Given the description of an element on the screen output the (x, y) to click on. 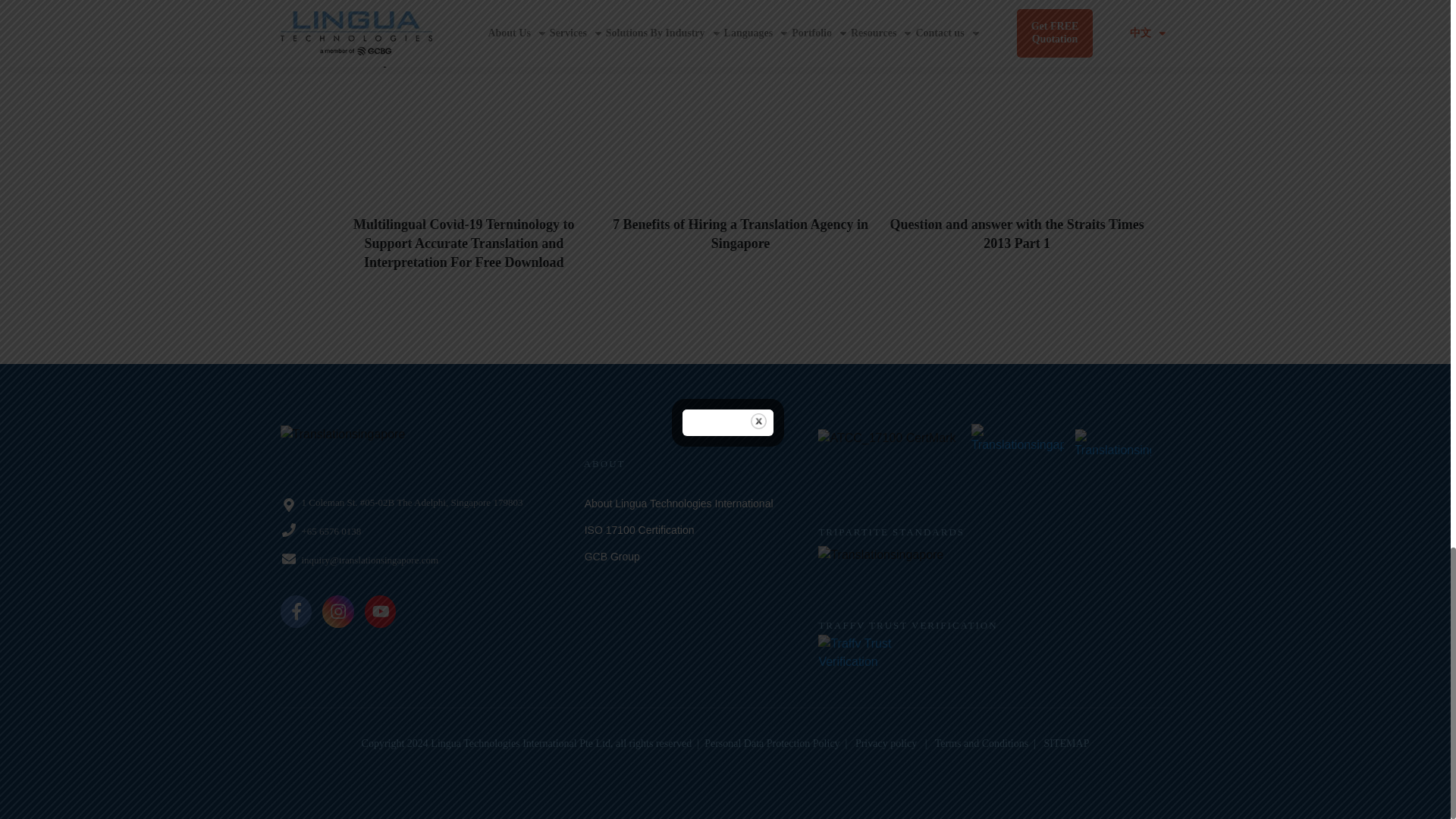
Best in Singapore Badge No BG (1017, 470)
7 Benefits of Hiring a Translation Agency in Singapore (739, 233)
Traffv Trust Verification (879, 663)
Question and answer with the Straits Times 2013 Part 1 (1016, 233)
logo-invert (388, 446)
ts (931, 572)
finest-services (1112, 467)
